Given the description of an element on the screen output the (x, y) to click on. 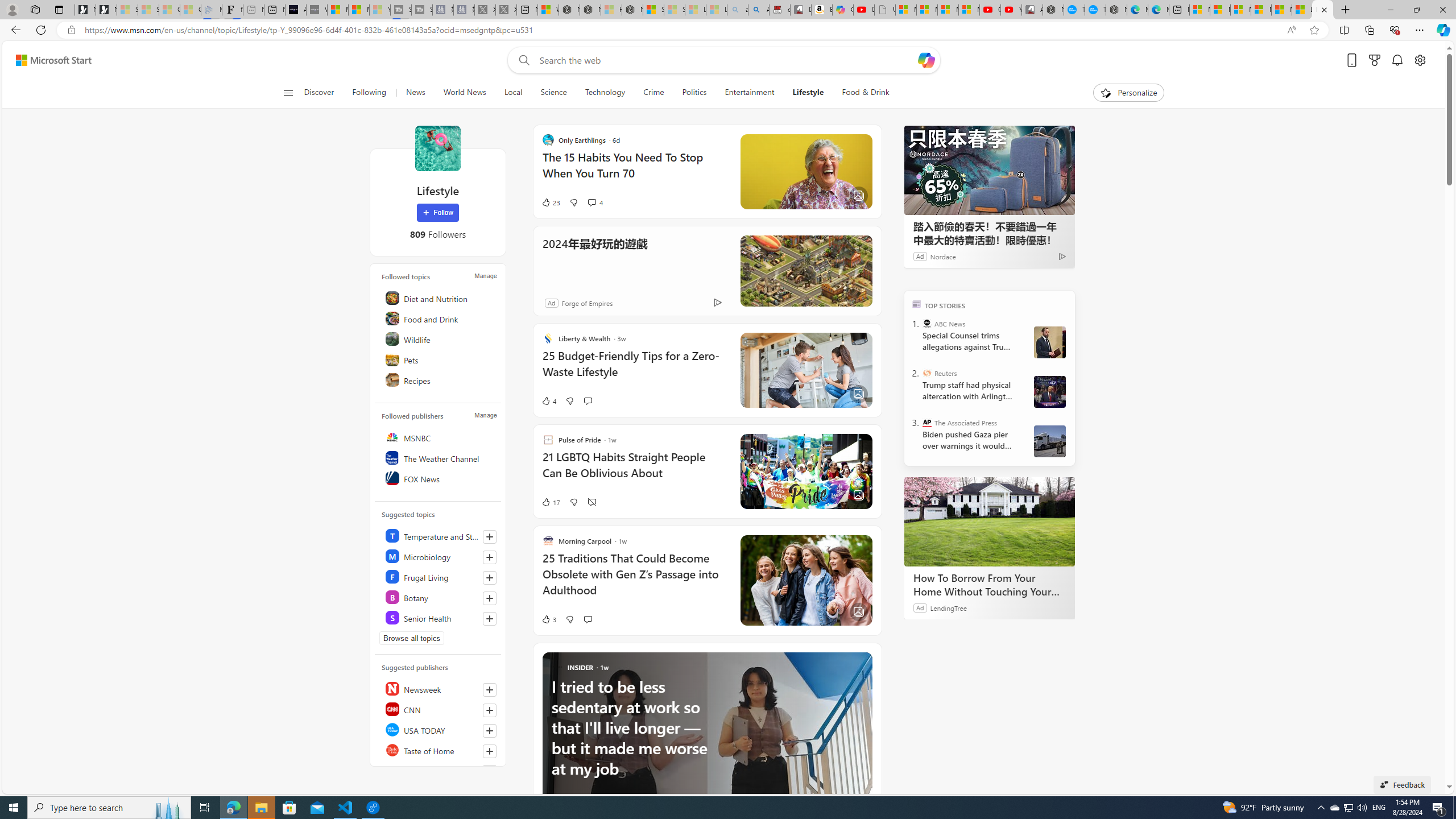
Technology (605, 92)
Comments turned off for this story (591, 502)
X - Sleeping (505, 9)
Taste of Home (439, 750)
Science (553, 92)
Copilot (842, 9)
Local (513, 92)
Skip to content (49, 59)
Gloom - YouTube (990, 9)
